Given the description of an element on the screen output the (x, y) to click on. 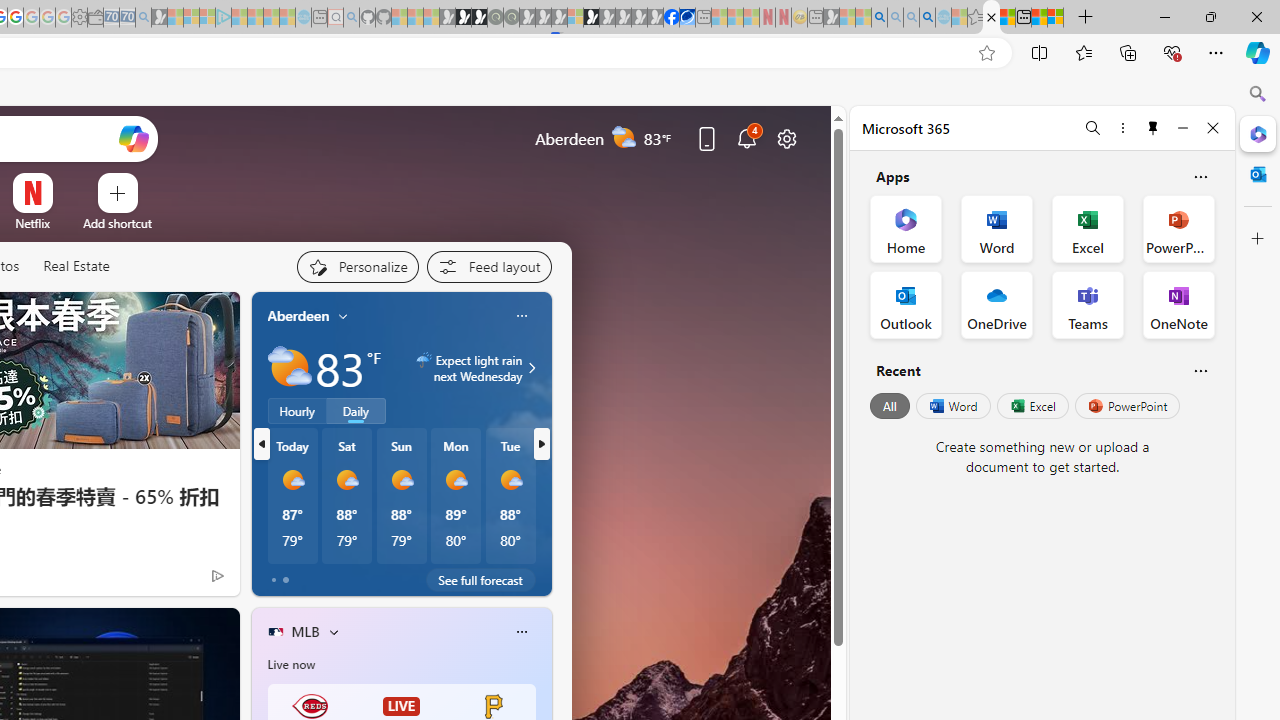
Bing AI - Search (879, 17)
Word (952, 406)
AirNow.gov (687, 17)
Microsoft Start - Sleeping (271, 17)
Page settings (786, 138)
More interests (333, 631)
